Given the description of an element on the screen output the (x, y) to click on. 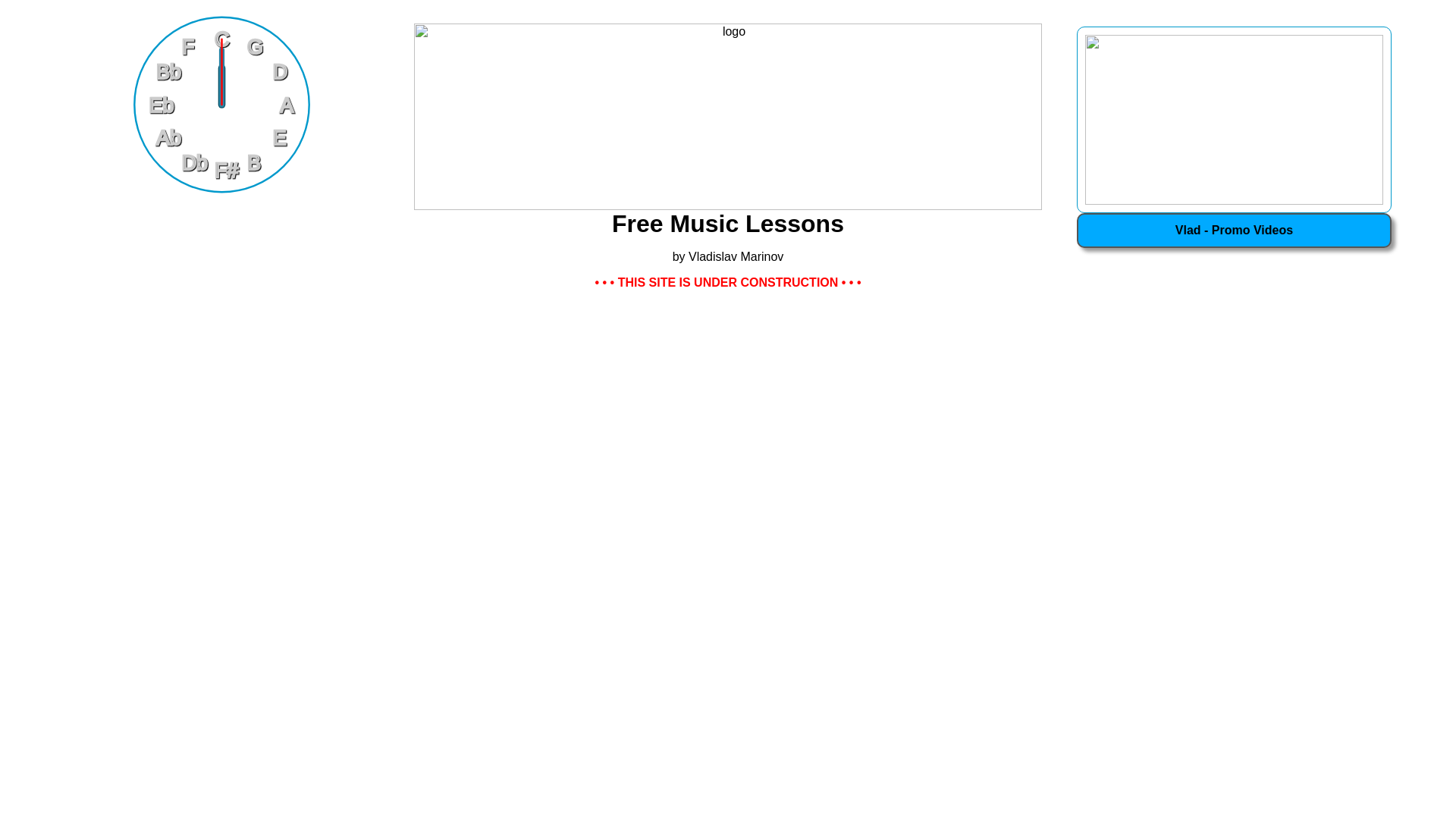
Vlad - Promo Videos Element type: text (1233, 229)
Vlad - Promo Videos Element type: text (1233, 230)
